Given the description of an element on the screen output the (x, y) to click on. 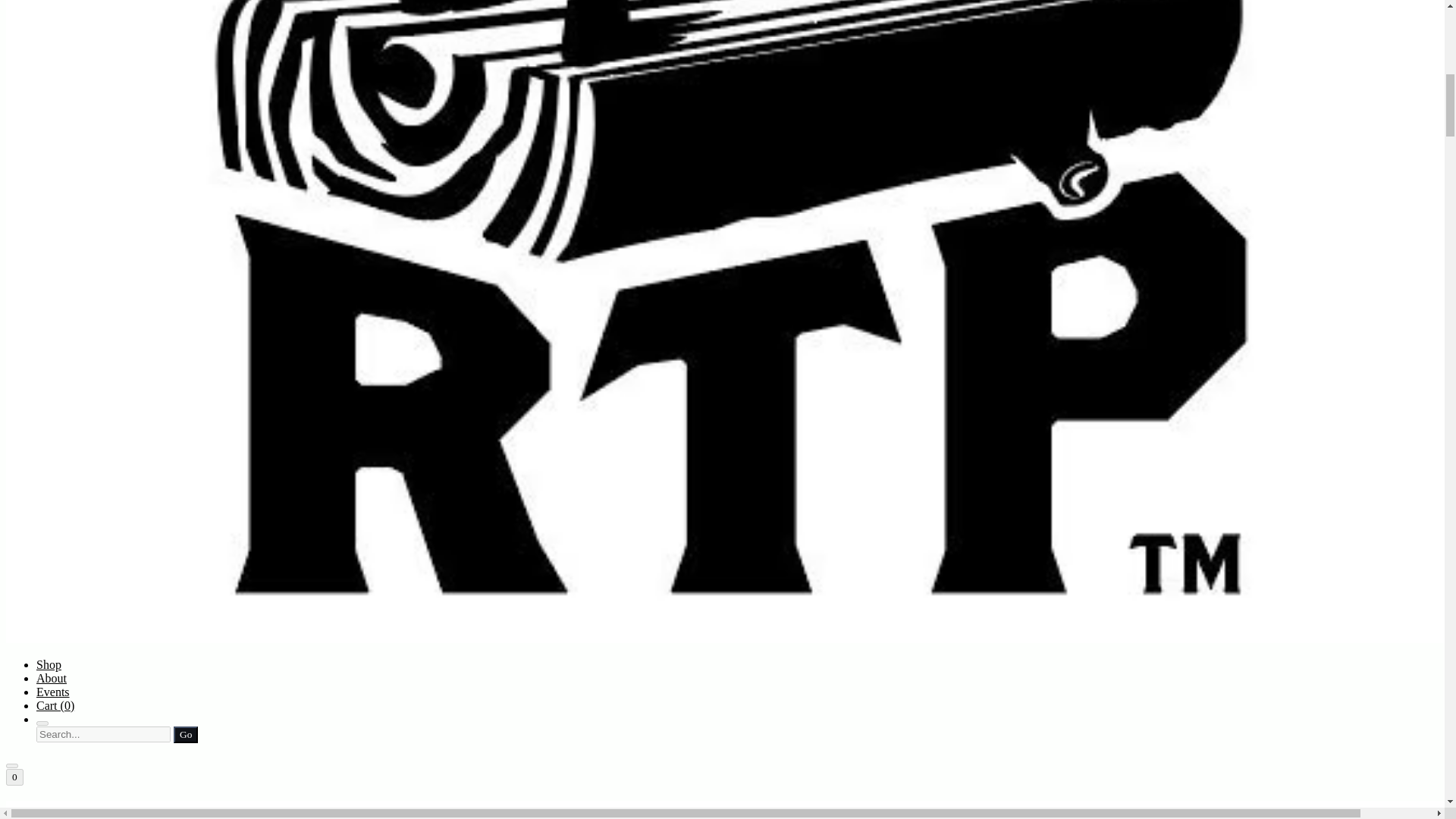
Events (52, 691)
Go (185, 734)
Go (185, 734)
About (51, 677)
0 (14, 777)
Shop (48, 664)
Home (721, 809)
